Given the description of an element on the screen output the (x, y) to click on. 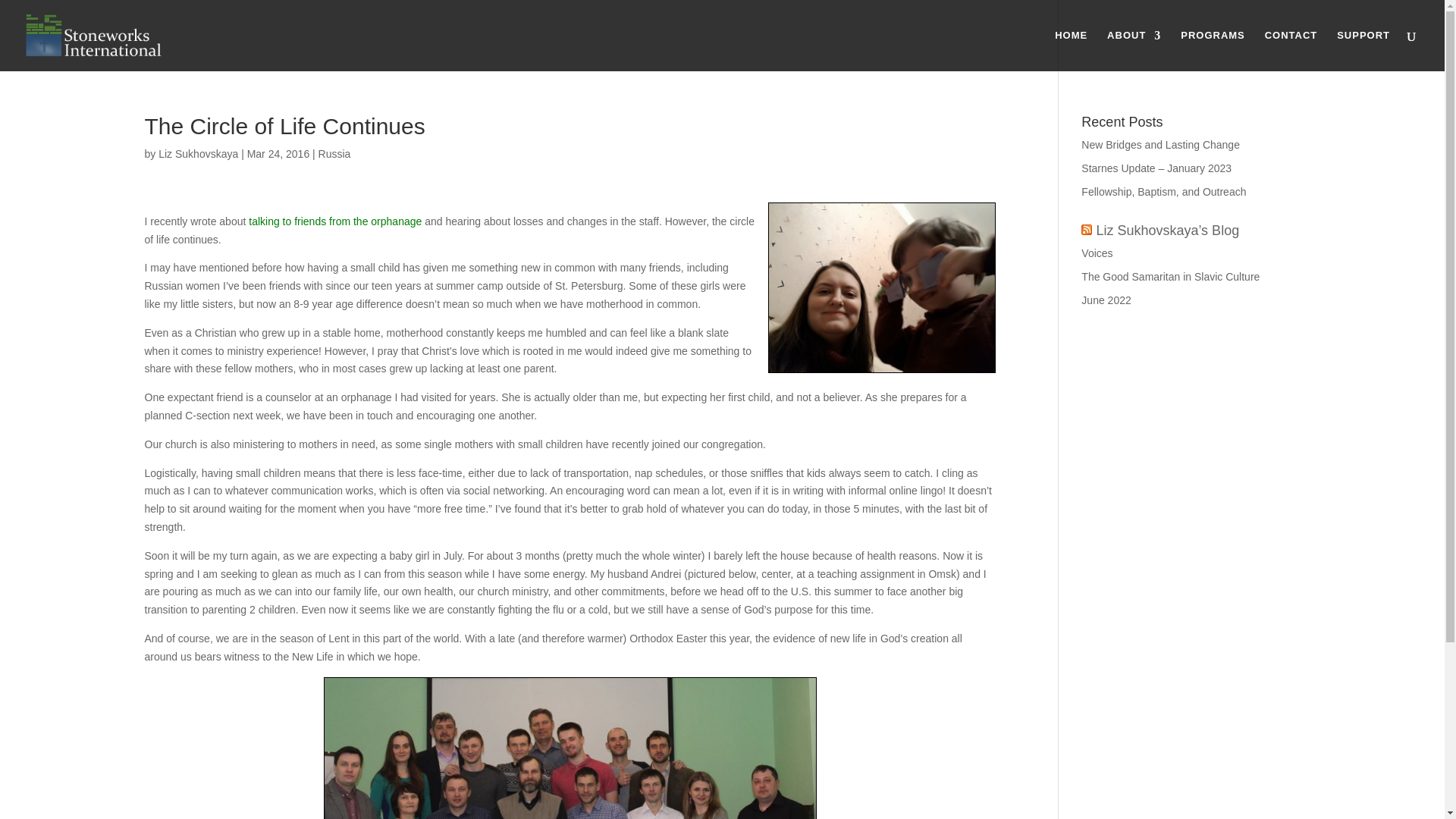
PROGRAMS (1212, 50)
talking to friends from the orphanage (335, 221)
CONTACT (1291, 50)
Posts by Liz Sukhovskaya (198, 153)
The Good Samaritan in Slavic Culture (1170, 276)
ABOUT (1133, 50)
Voices (1096, 253)
June 2022 (1106, 300)
Russia (334, 153)
New Bridges and Lasting Change (1160, 144)
Liz Sukhovskaya (198, 153)
Fellowship, Baptism, and Outreach (1163, 191)
SUPPORT (1363, 50)
